Given the description of an element on the screen output the (x, y) to click on. 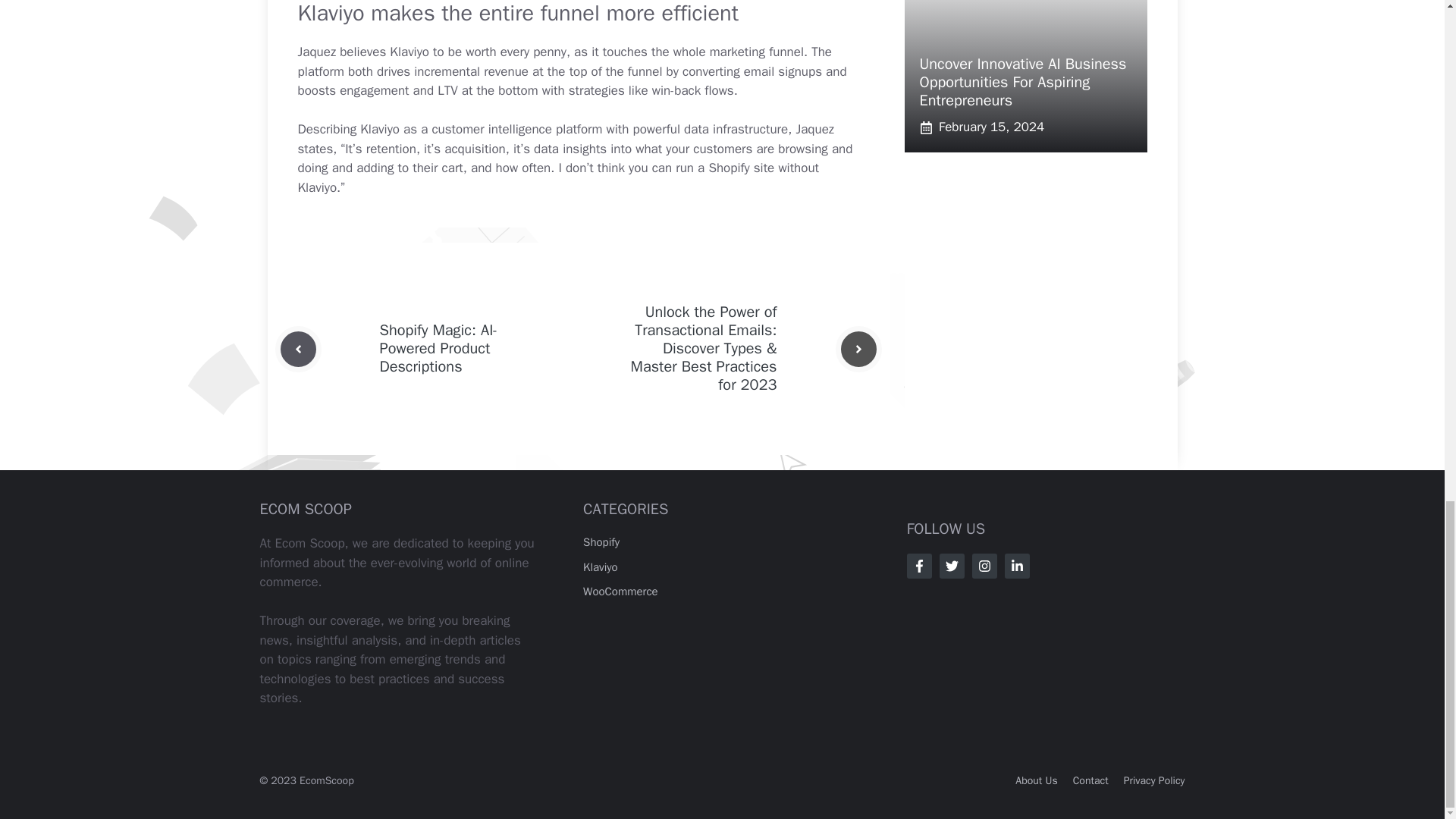
Scroll back to top (1406, 232)
Shopify Magic: AI-Powered Product Descriptions (437, 348)
Shopify (601, 541)
Privacy Policy (1154, 780)
Klaviyo (600, 567)
About Us (1035, 780)
WooCommerce (620, 591)
Contact (1090, 780)
